Given the description of an element on the screen output the (x, y) to click on. 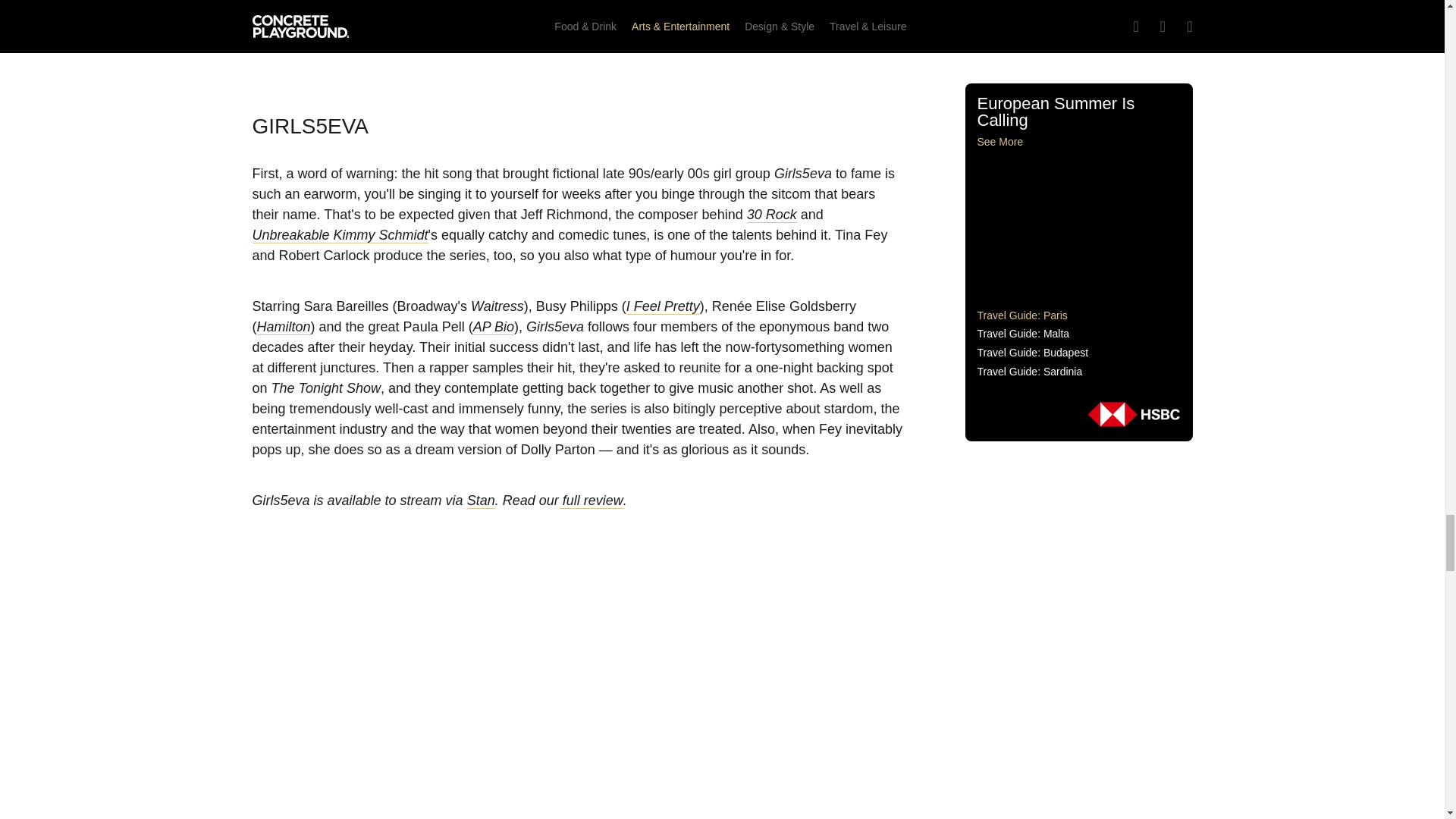
YouTube video player (577, 37)
